Given the description of an element on the screen output the (x, y) to click on. 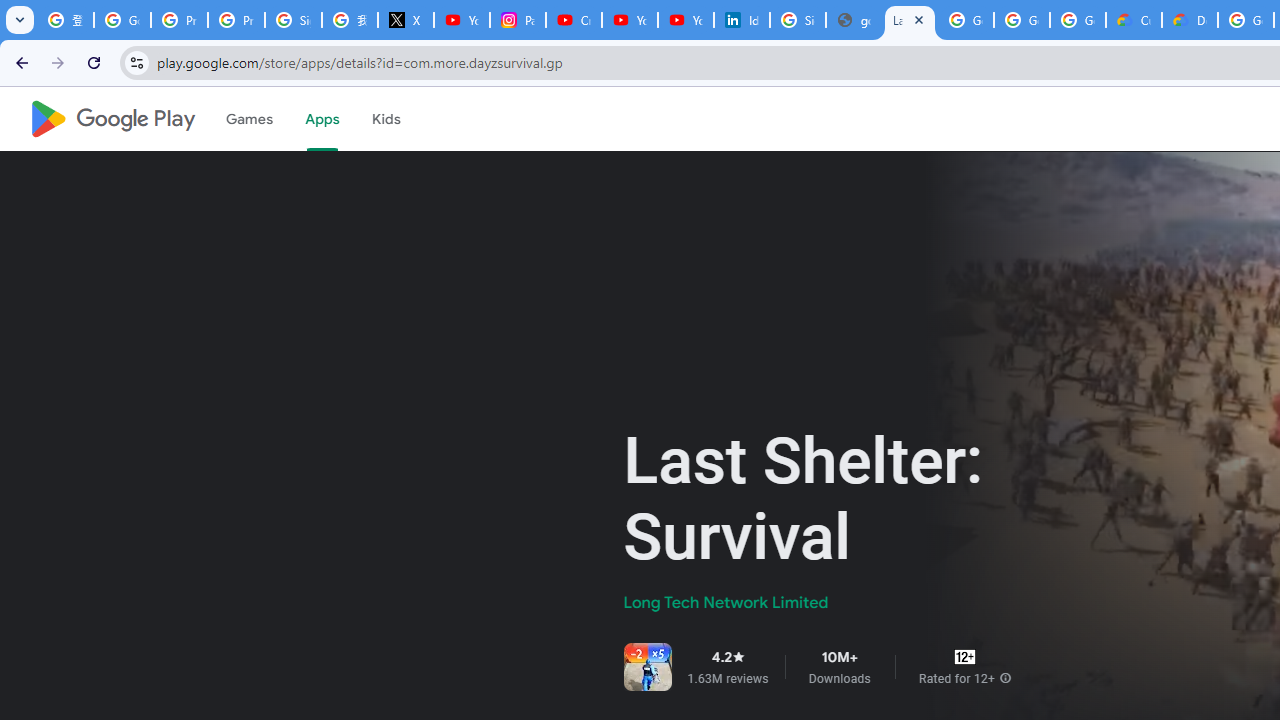
YouTube Culture & Trends - YouTube Top 10, 2021 (685, 20)
Google Workspace - Specific Terms (1021, 20)
More info about this content rating (1005, 678)
Apps (321, 119)
Games (248, 119)
YouTube Content Monetization Policies - How YouTube Works (461, 20)
X (405, 20)
Google Workspace - Specific Terms (1077, 20)
